Given the description of an element on the screen output the (x, y) to click on. 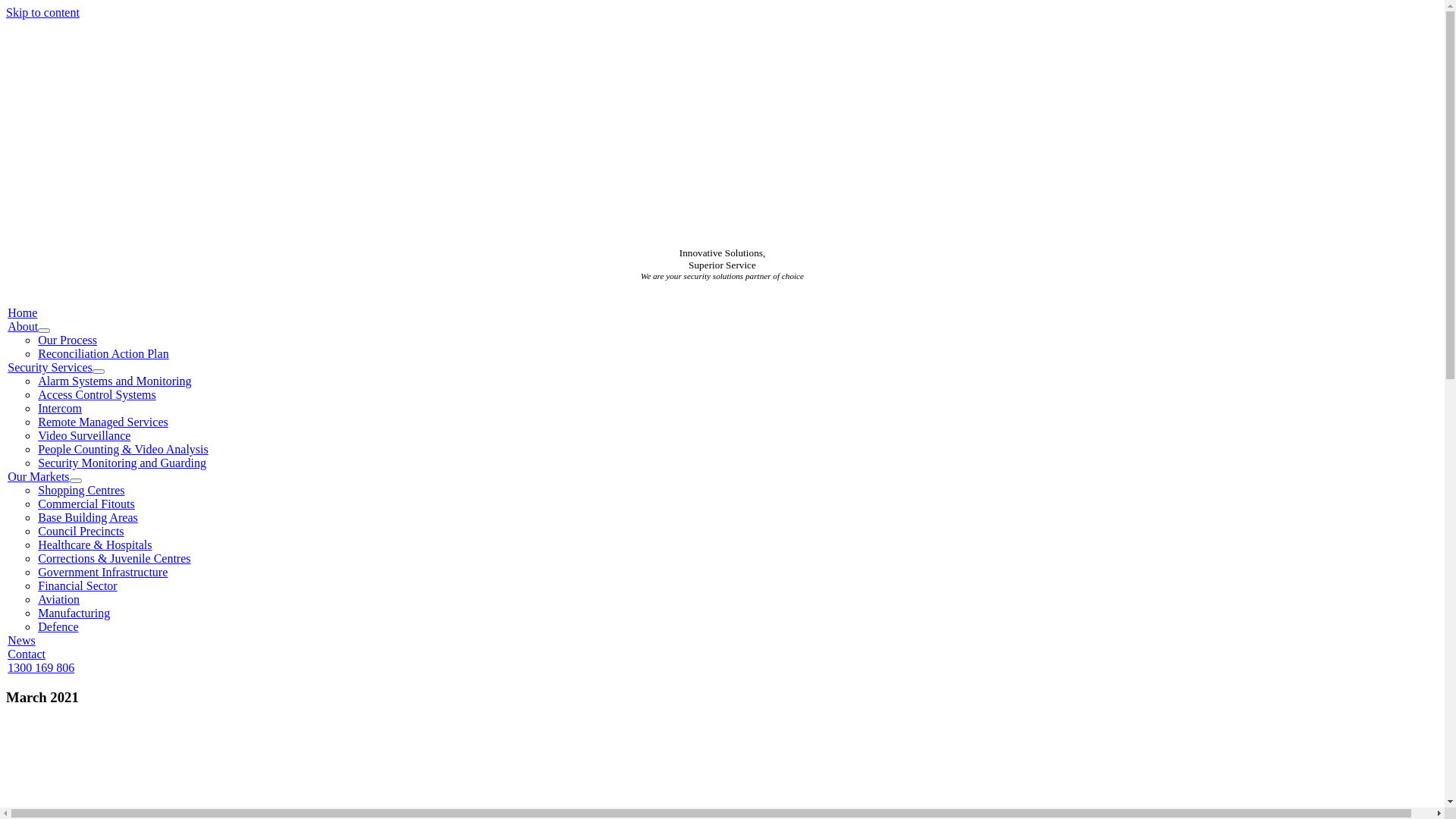
Remote Managed Services Element type: text (102, 421)
Reconciliation Action Plan Element type: text (102, 353)
About Element type: text (22, 326)
Government Infrastructure Element type: text (102, 571)
Our Process Element type: text (67, 339)
Our Markets Element type: text (38, 476)
Aviation Element type: text (58, 599)
Healthcare & Hospitals Element type: text (94, 544)
Alarm Systems and Monitoring Element type: text (114, 380)
Shopping Centres Element type: text (80, 489)
Base Building Areas Element type: text (87, 517)
Home Element type: text (22, 312)
1300 169 806 Element type: text (40, 667)
Access Control Systems Element type: text (96, 394)
Security Services Element type: text (49, 366)
People Counting & Video Analysis Element type: text (122, 448)
Council Precincts Element type: text (80, 530)
Commercial Fitouts Element type: text (85, 503)
Manufacturing Element type: text (73, 612)
Skip to content Element type: text (42, 12)
News Element type: text (20, 639)
Contact Element type: text (26, 653)
Defence Element type: text (57, 626)
Financial Sector Element type: text (76, 585)
Security Monitoring and Guarding Element type: text (121, 462)
Intercom Element type: text (59, 407)
Video Surveillance Element type: text (83, 435)
Corrections & Juvenile Centres Element type: text (113, 558)
